Given the description of an element on the screen output the (x, y) to click on. 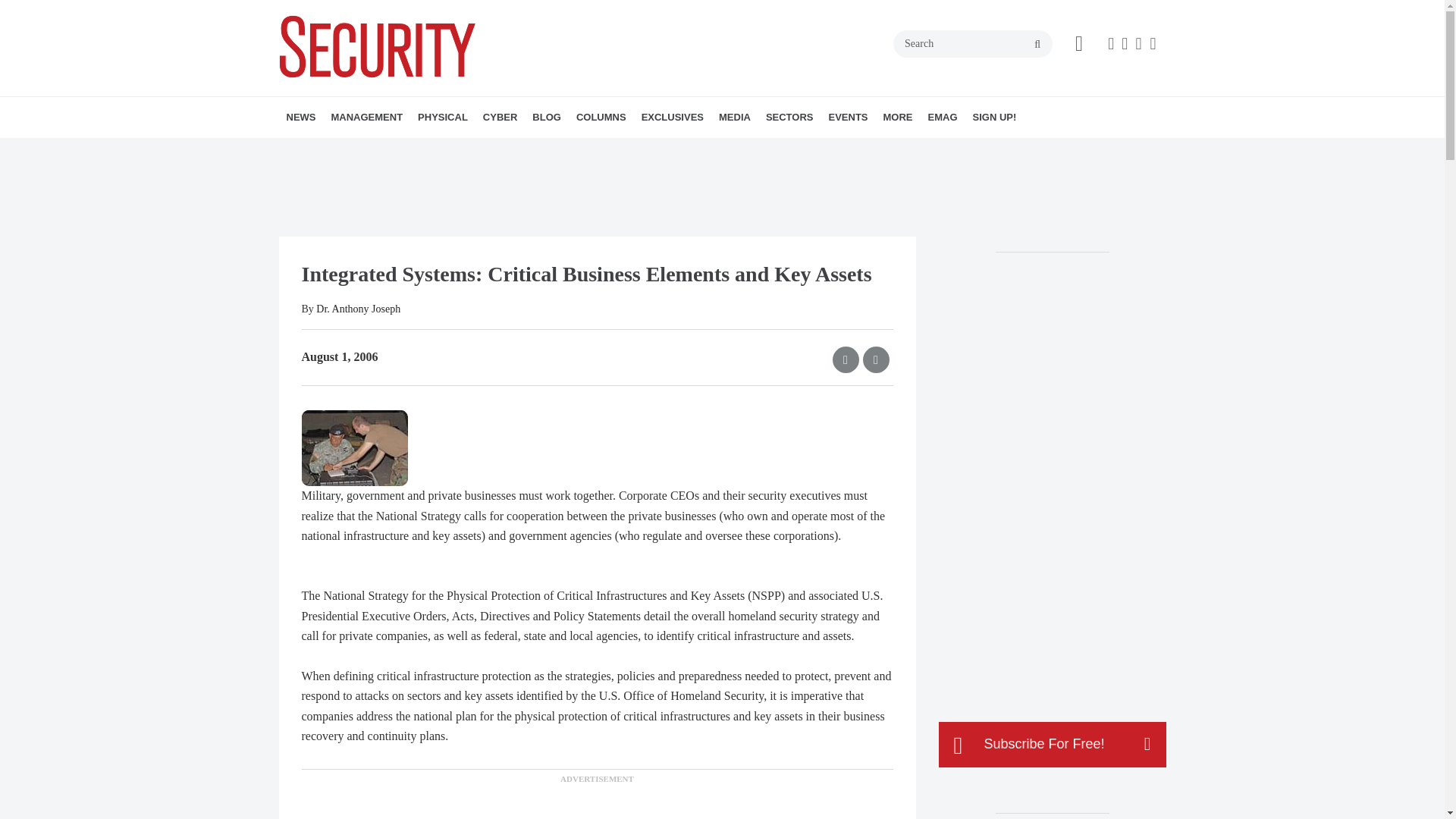
ACCESS MANAGEMENT (504, 150)
CYBER (500, 117)
MORE (523, 150)
PHYSICAL (443, 117)
VIDEO SURVEILLANCE (512, 150)
BLOG (546, 117)
search (1037, 44)
MORE (440, 150)
SECURITY NEWSWIRE (373, 150)
LEADERSHIP MANAGEMENT (417, 150)
